Given the description of an element on the screen output the (x, y) to click on. 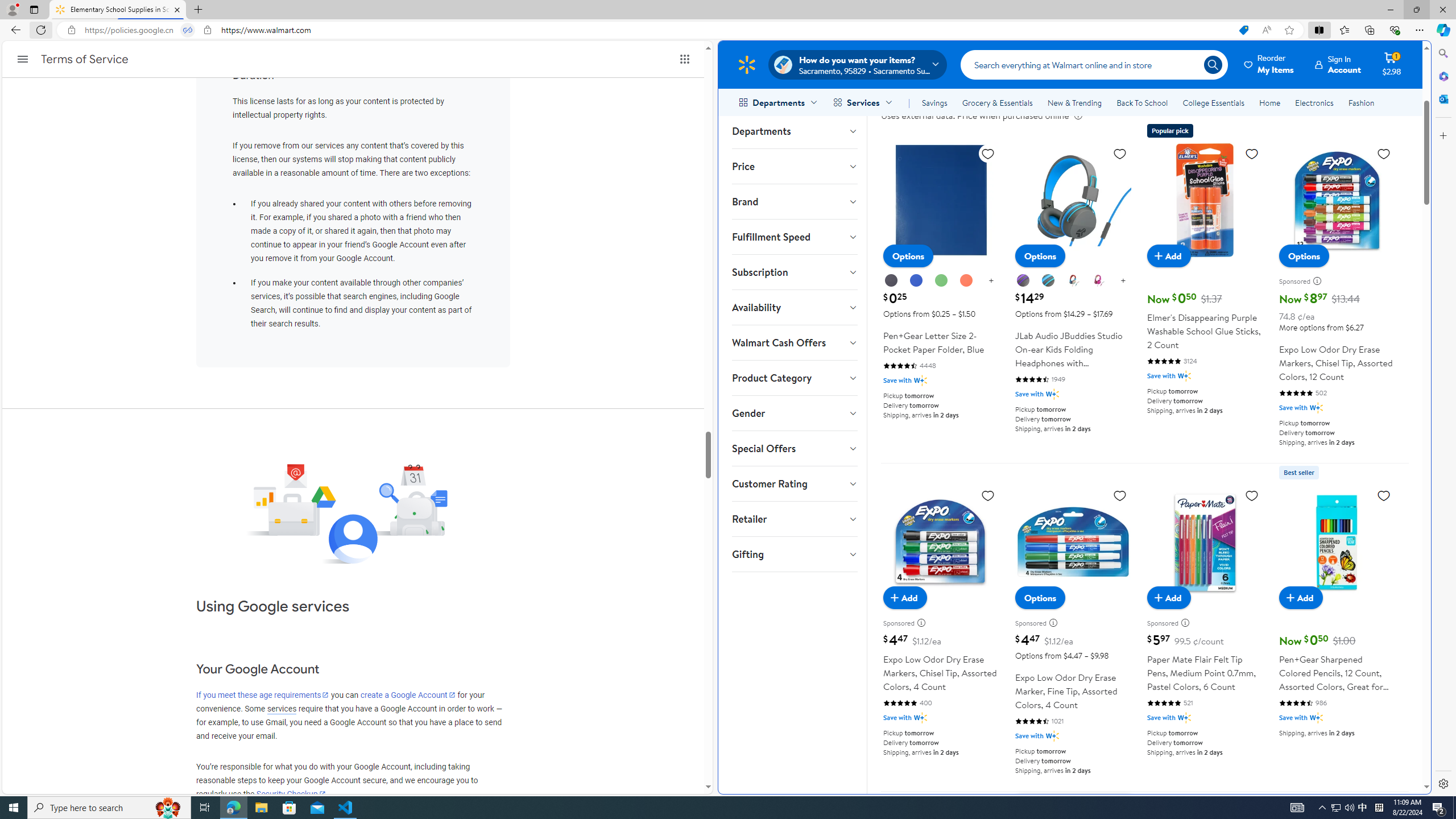
Back To School (1141, 102)
Blue (915, 280)
Brand (794, 201)
Walmart Cash Offers (794, 342)
Pink (1097, 280)
Brand (794, 201)
Cart contains 1 item Total Amount $2.98 (1391, 64)
Search icon (1212, 64)
